Given the description of an element on the screen output the (x, y) to click on. 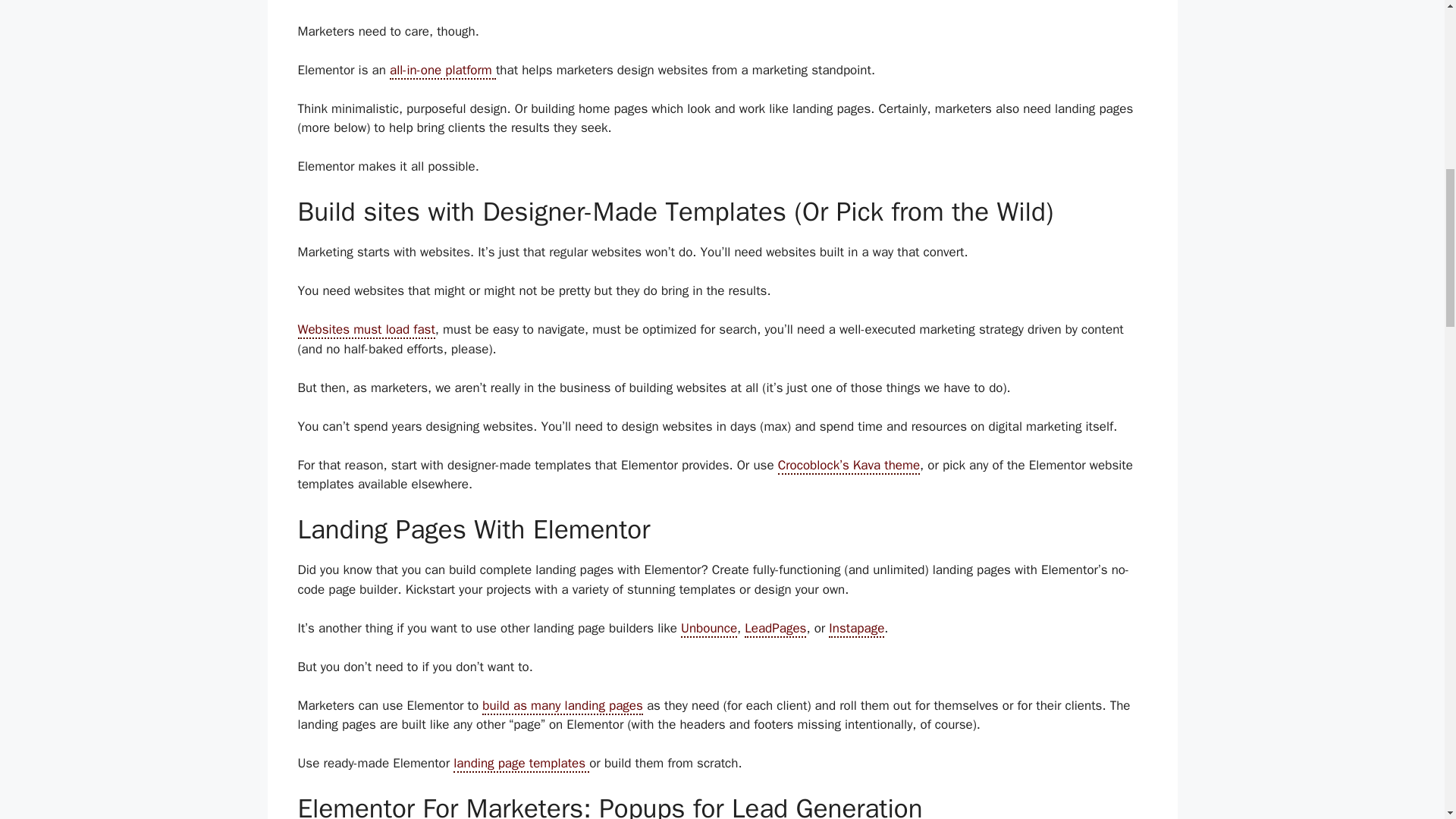
landing page templates (520, 764)
build as many landing pages (562, 705)
Unbounce (708, 628)
Instapage (855, 628)
Websites must load fast (365, 330)
LeadPages (775, 628)
all-in-one platform (443, 70)
